Given the description of an element on the screen output the (x, y) to click on. 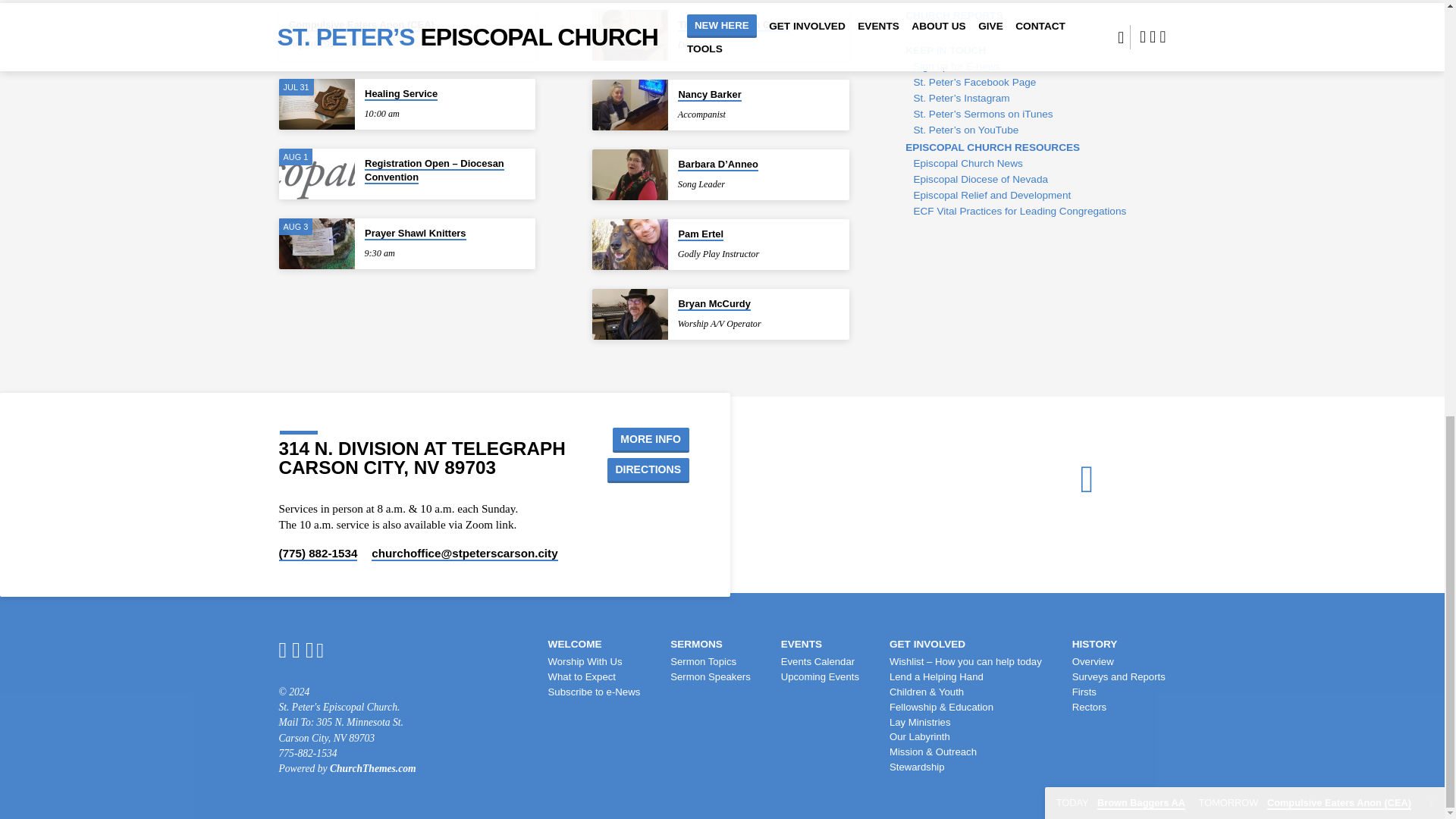
Healing Service (317, 103)
Healing Service (401, 93)
